Given the description of an element on the screen output the (x, y) to click on. 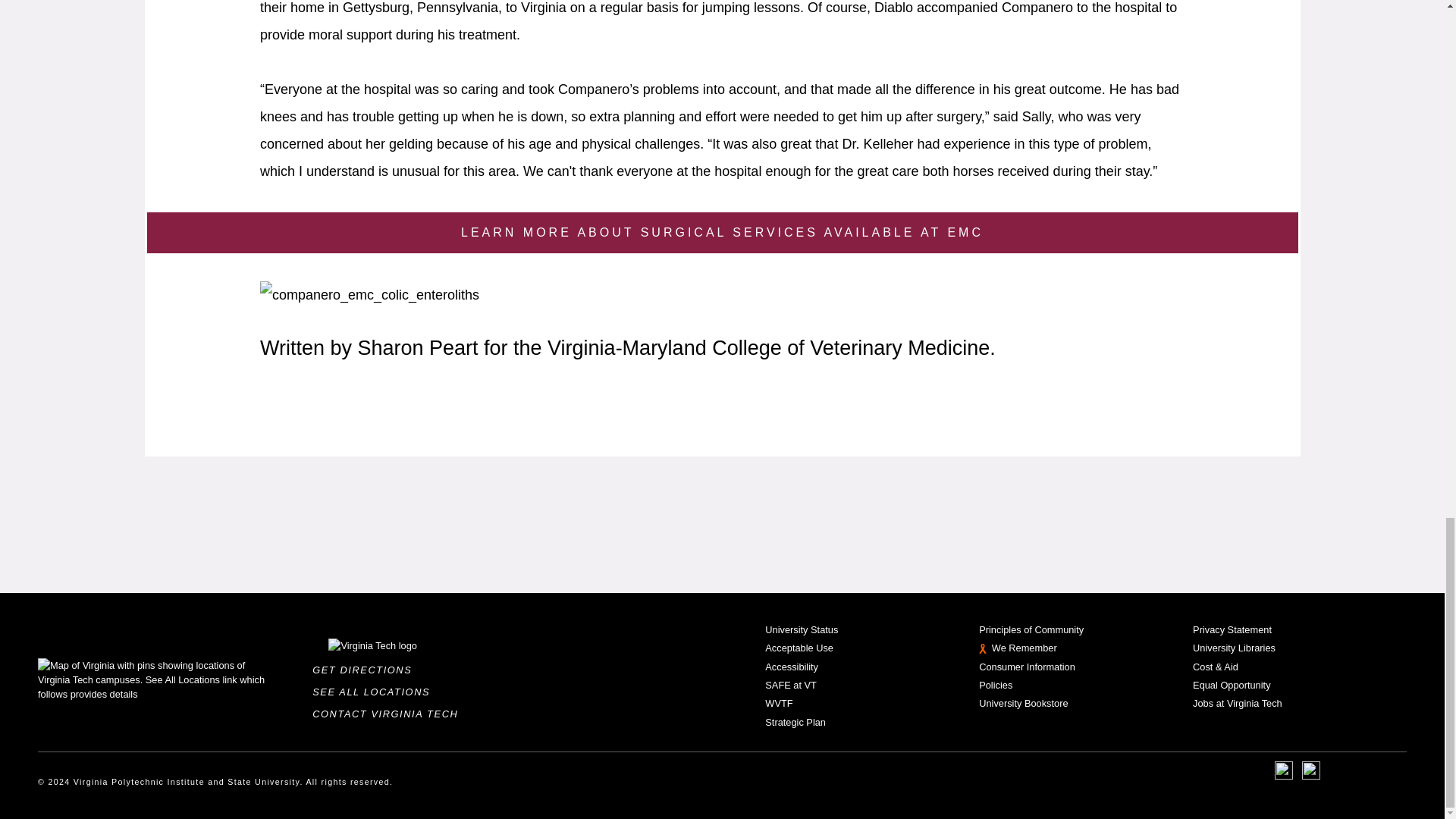
Companero (369, 294)
